Given the description of an element on the screen output the (x, y) to click on. 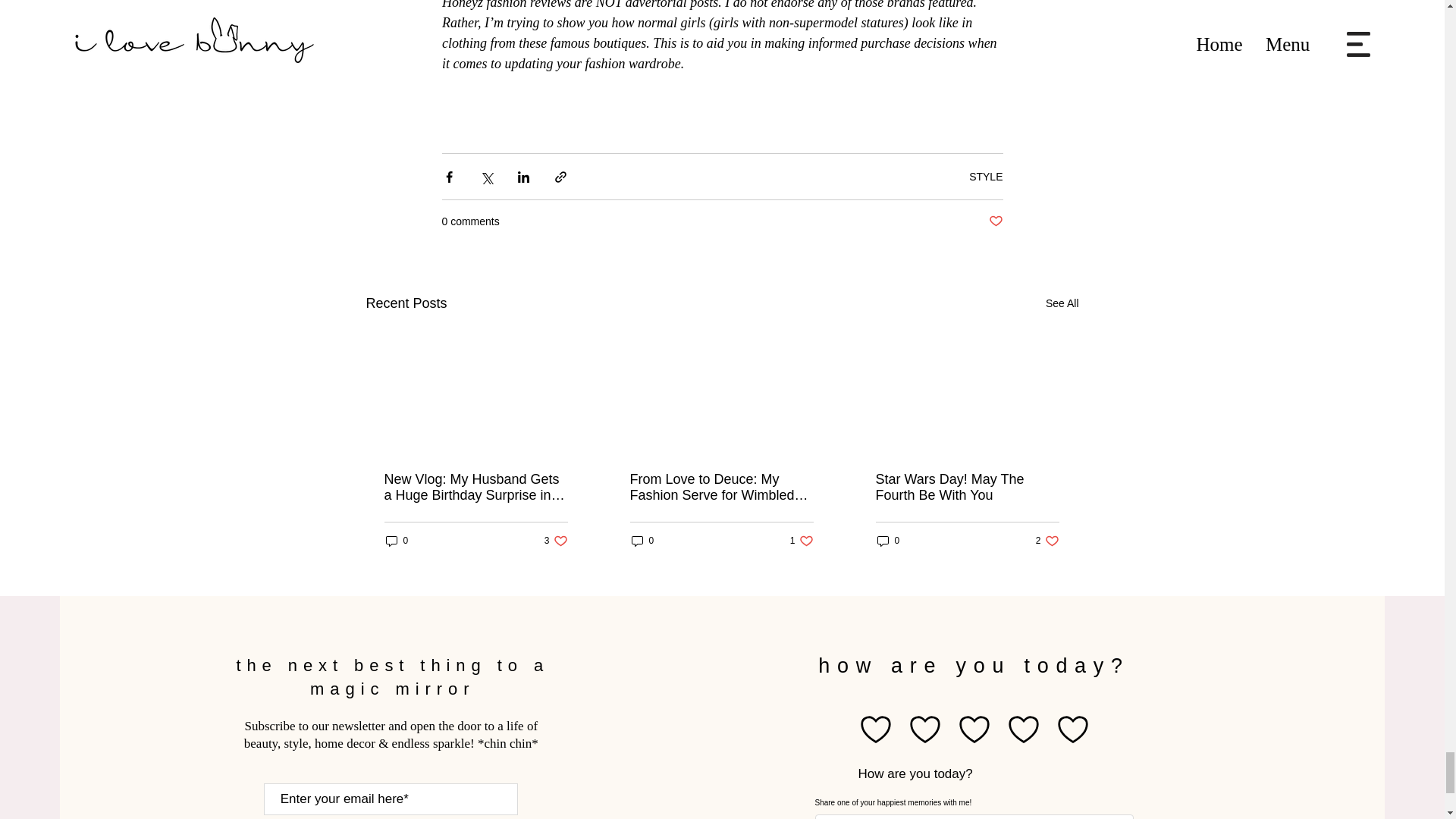
0 (396, 540)
STYLE (986, 176)
Post not marked as liked (801, 540)
See All (555, 540)
0 (995, 221)
